Given the description of an element on the screen output the (x, y) to click on. 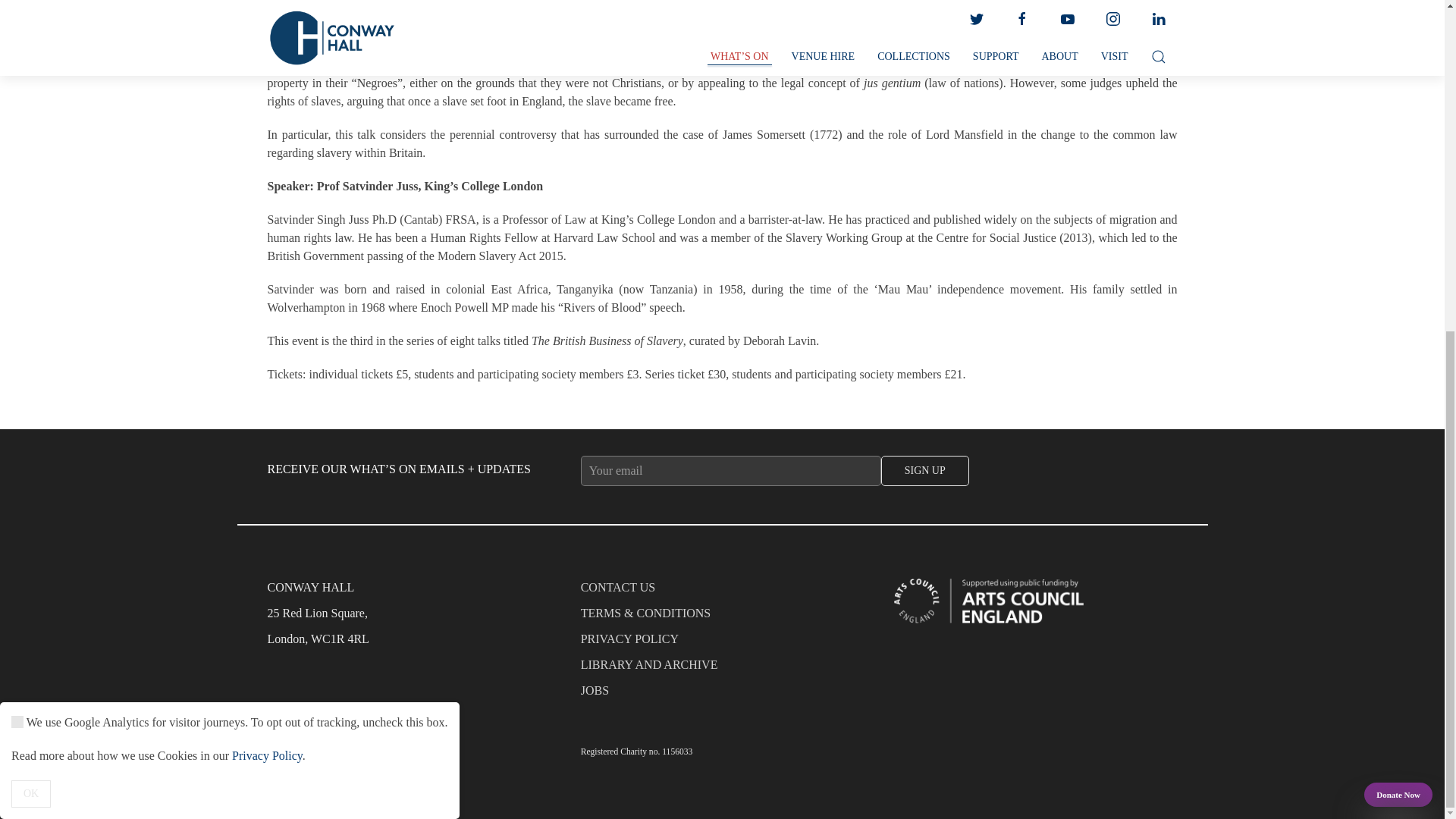
JOBS (722, 694)
Sign Up (924, 470)
LIBRARY AND ARCHIVE (722, 668)
Privacy Policy (266, 205)
Sign Up (924, 470)
OK (30, 243)
Donate Now (1398, 243)
on (17, 171)
CONTACT US (722, 591)
PRIVACY POLICY (722, 642)
